Given the description of an element on the screen output the (x, y) to click on. 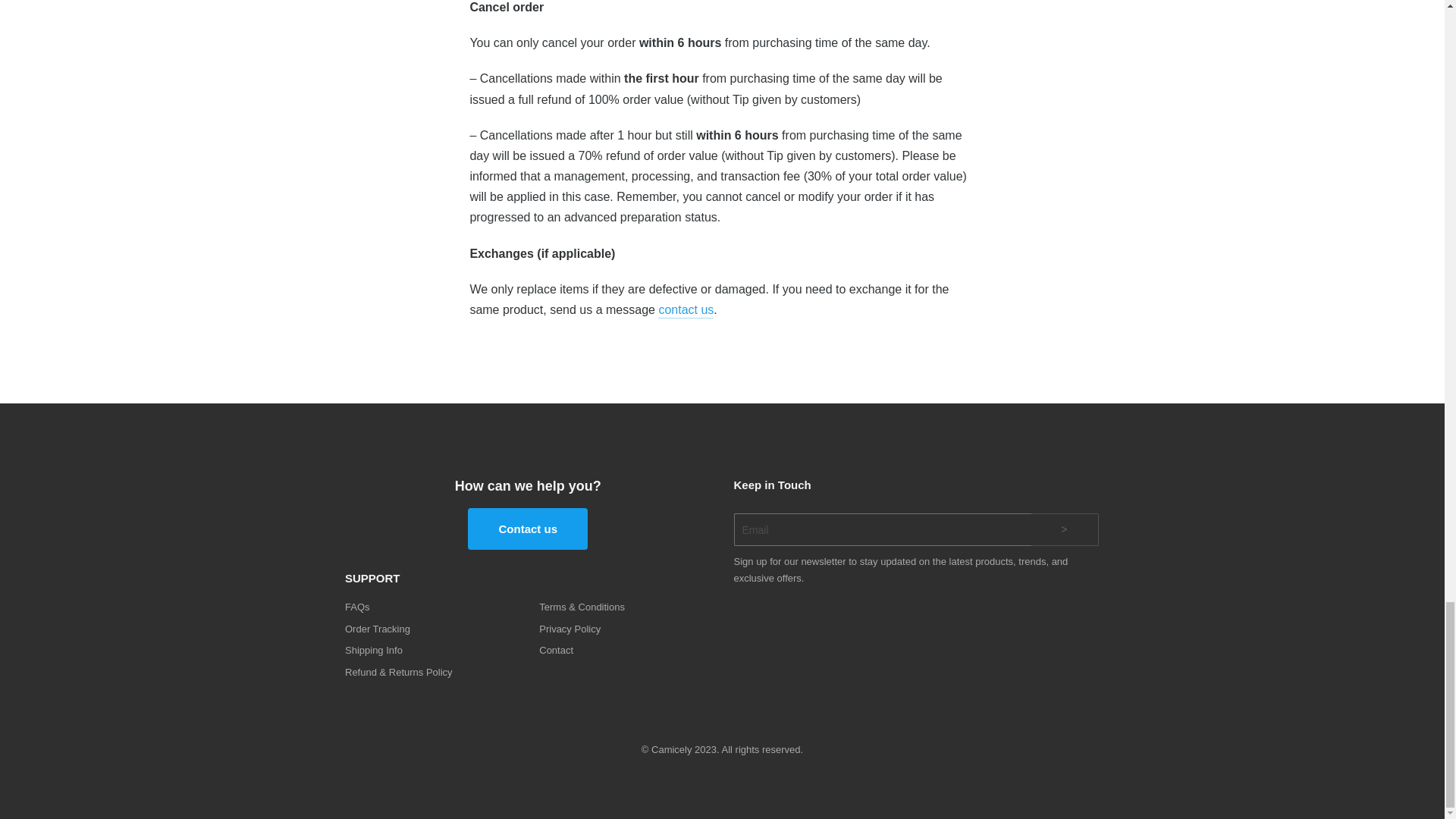
FAQs (430, 606)
Contact (624, 650)
Order Tracking (430, 629)
Privacy Policy (624, 629)
contact us (685, 309)
Shipping Info (430, 650)
Contact us (527, 528)
